Given the description of an element on the screen output the (x, y) to click on. 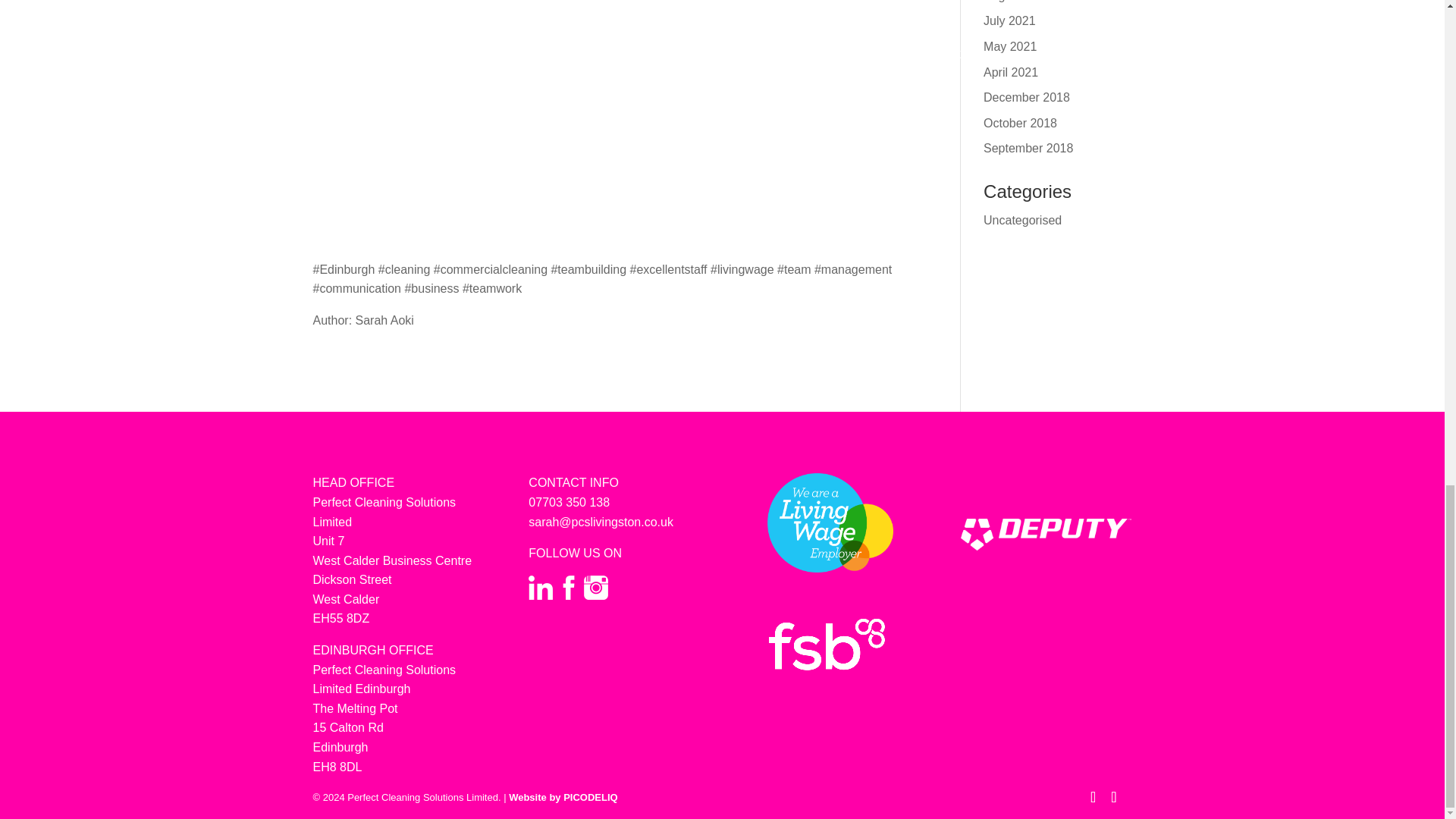
Asset 1 (829, 522)
